Given the description of an element on the screen output the (x, y) to click on. 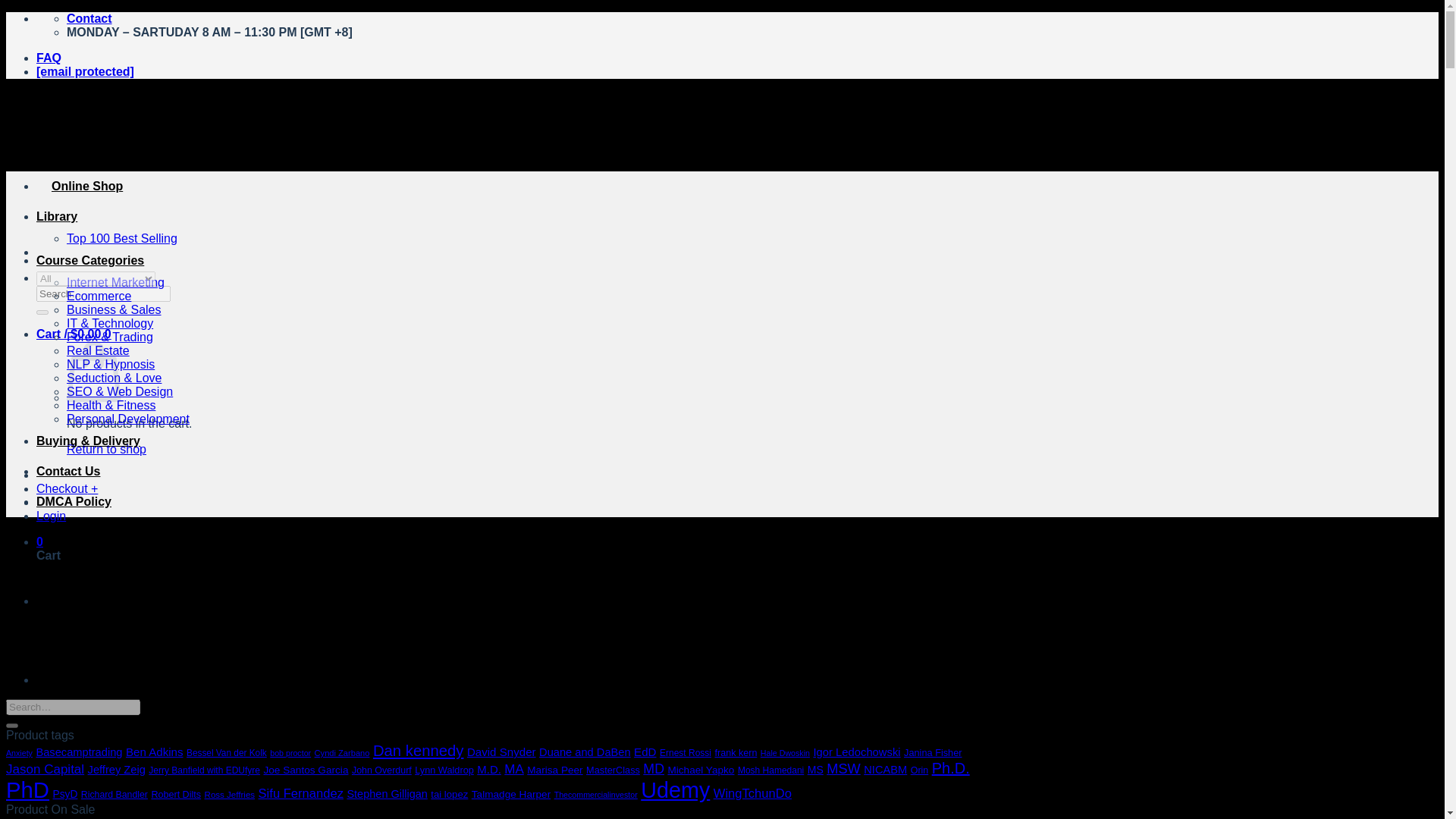
Contact Us (68, 471)
Ecommerce (98, 295)
Cart (74, 333)
FAQ (48, 57)
Basecamptrading (78, 752)
Search (42, 312)
Internet Marketing (115, 282)
Bessel Van der Kolk (226, 752)
Login (50, 515)
Personal Development (127, 418)
KILOCOURSE - Best Discounted Course Shop (391, 190)
Library (56, 215)
Course Categories (90, 259)
Ben Adkins (154, 751)
